Given the description of an element on the screen output the (x, y) to click on. 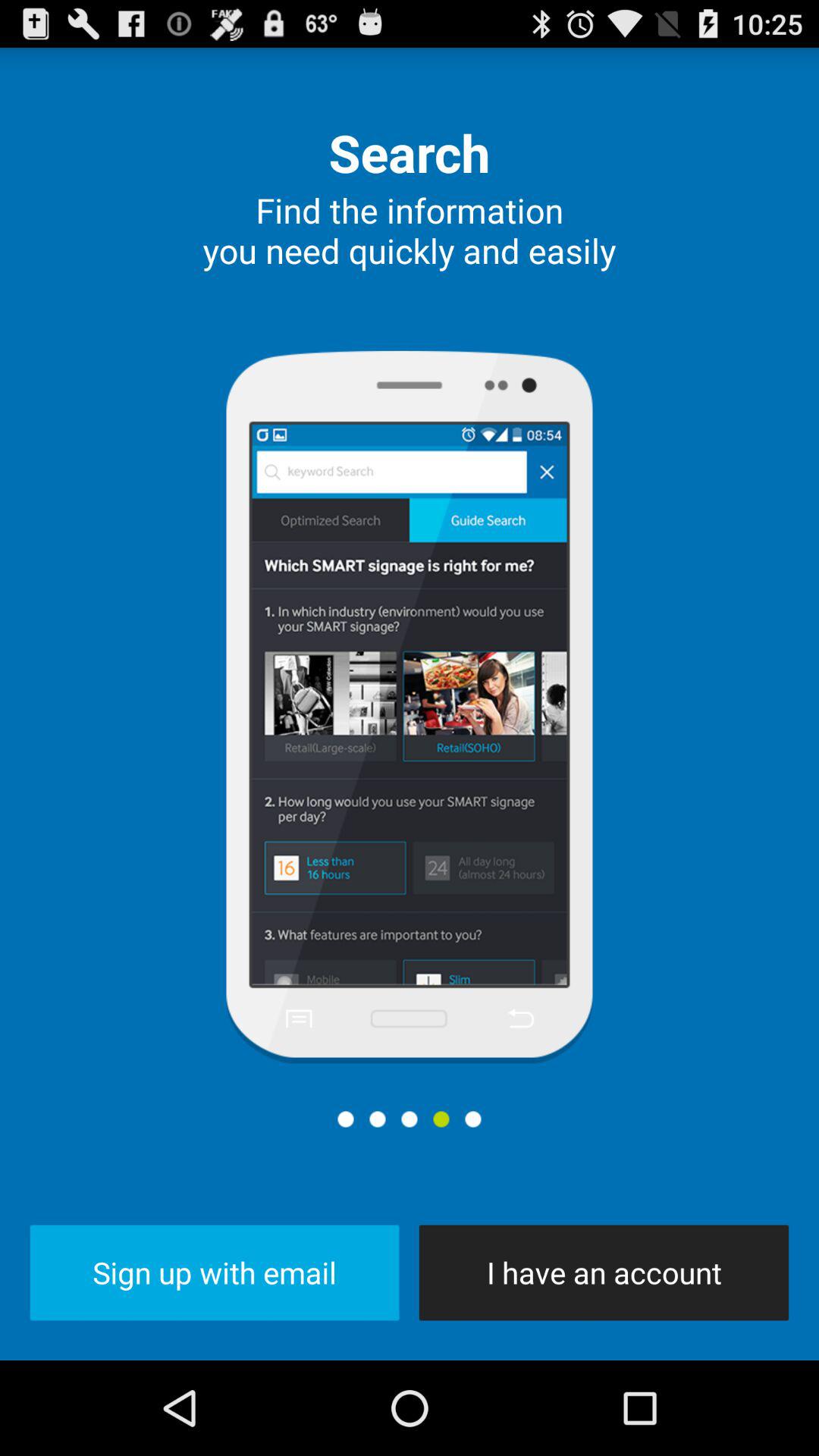
turn on the item to the right of sign up with (603, 1272)
